Given the description of an element on the screen output the (x, y) to click on. 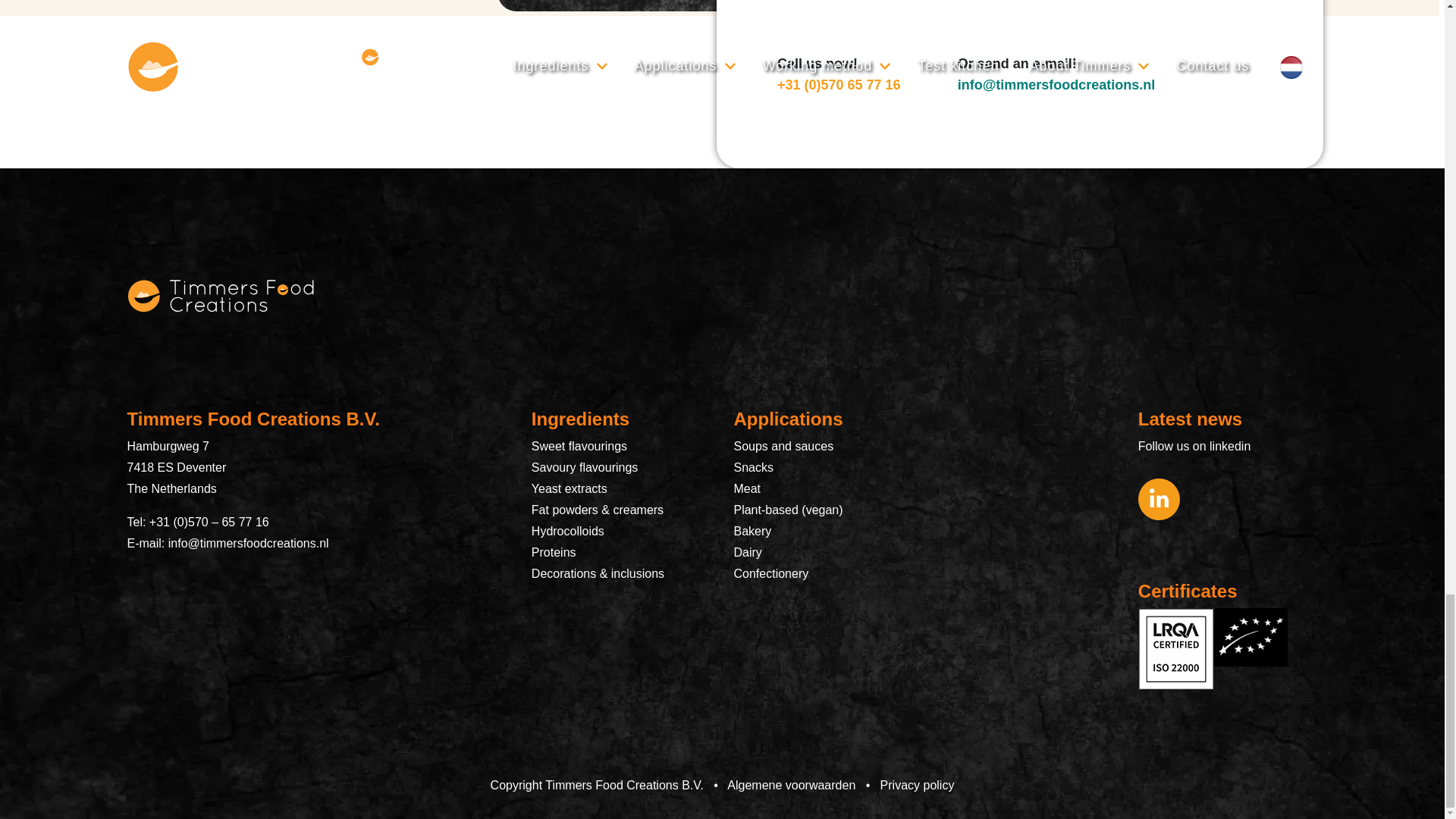
Proteins (553, 552)
Savoury flavourings (585, 467)
Hydrocolloids (567, 530)
Sweet flavourings (579, 445)
Yeast extracts (569, 488)
